Given the description of an element on the screen output the (x, y) to click on. 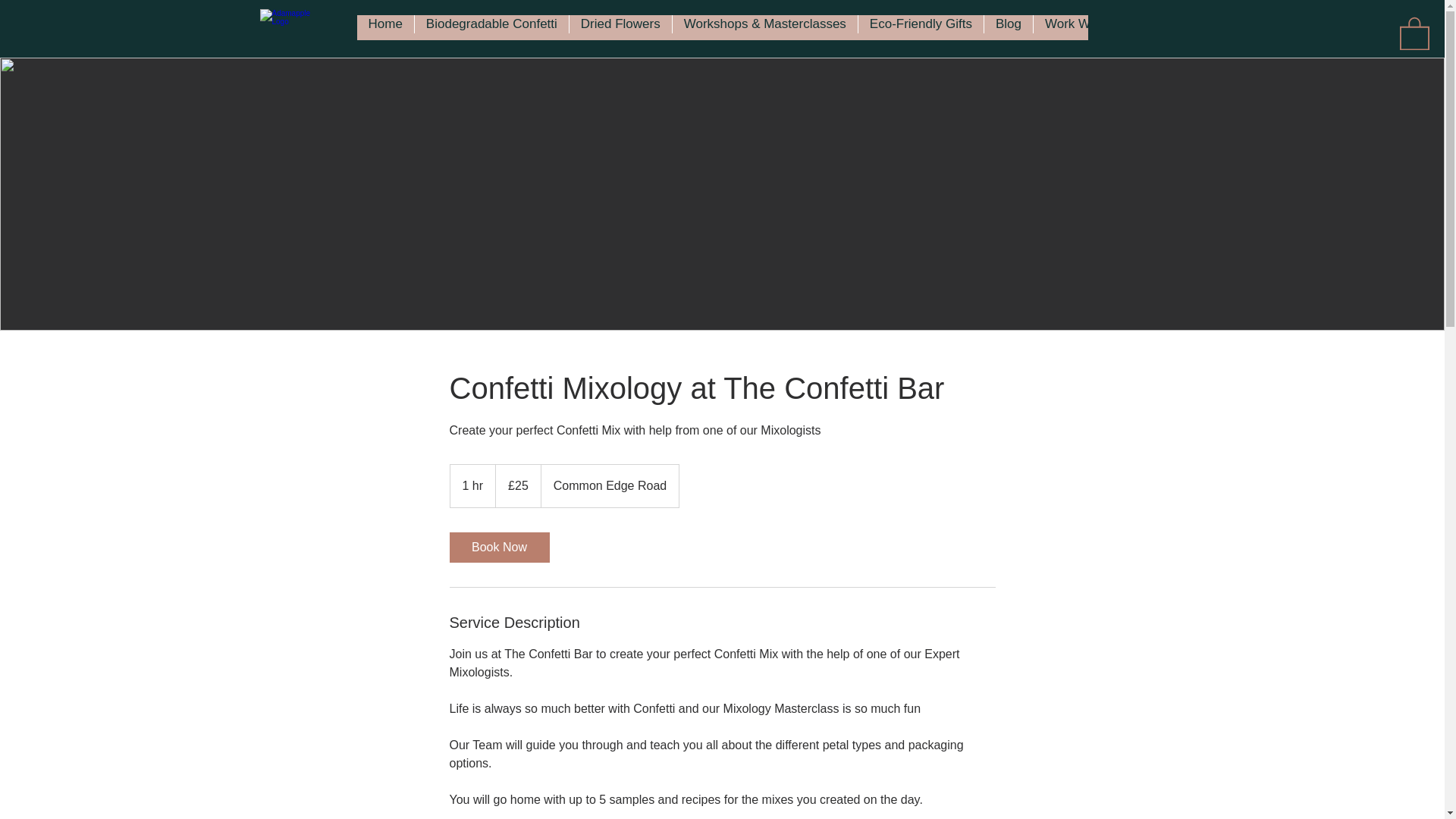
Eco-Friendly Gifts (920, 27)
Work With Us (1083, 27)
Dried Flowers (620, 27)
Home (384, 27)
Book Now (498, 547)
Biodegradable Confetti (491, 27)
Blog (1008, 27)
